Given the description of an element on the screen output the (x, y) to click on. 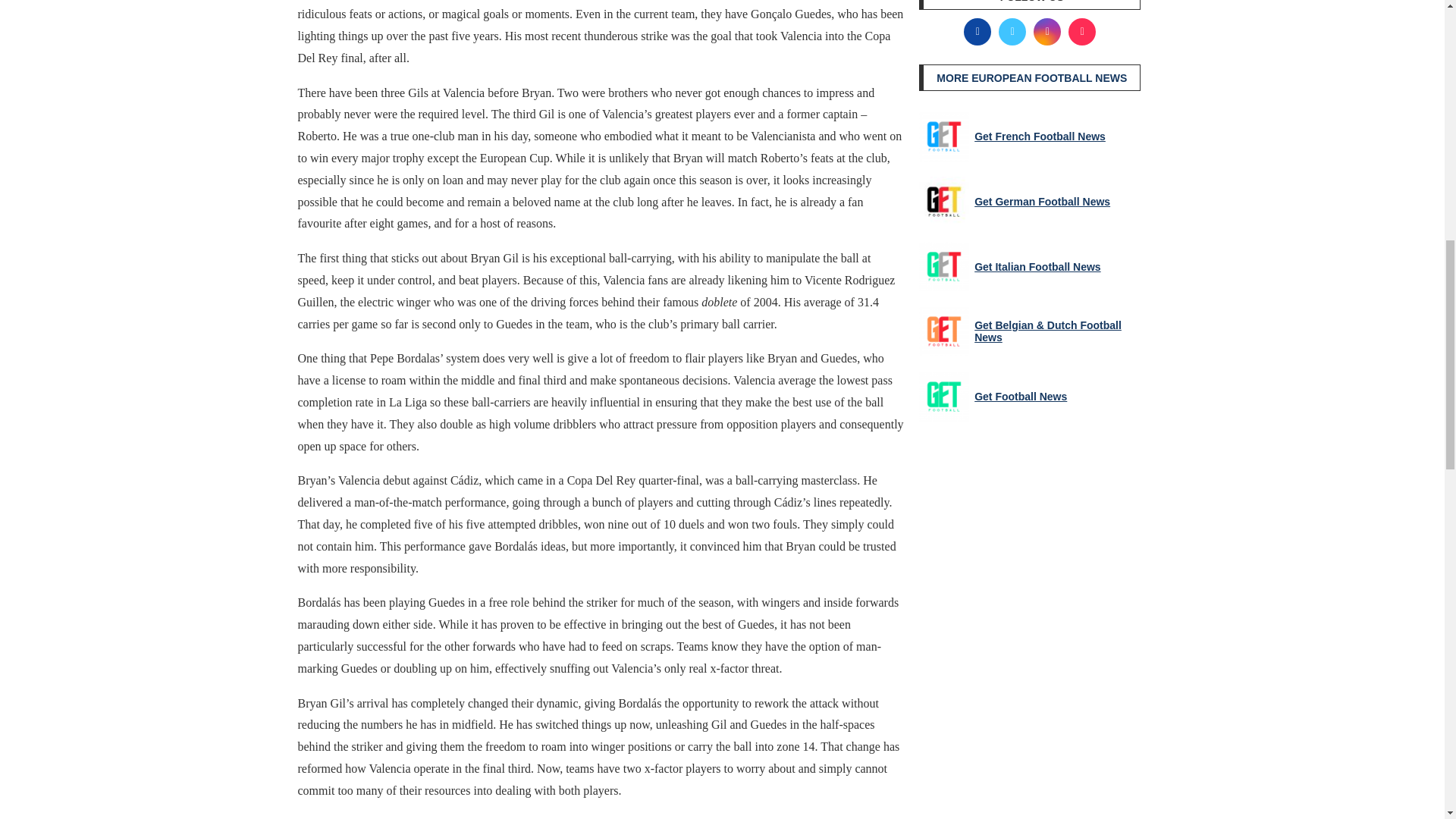
Get French Football News (943, 136)
Get Italian Football News (943, 266)
Get Football News (943, 396)
Get German Football News (943, 201)
